Given the description of an element on the screen output the (x, y) to click on. 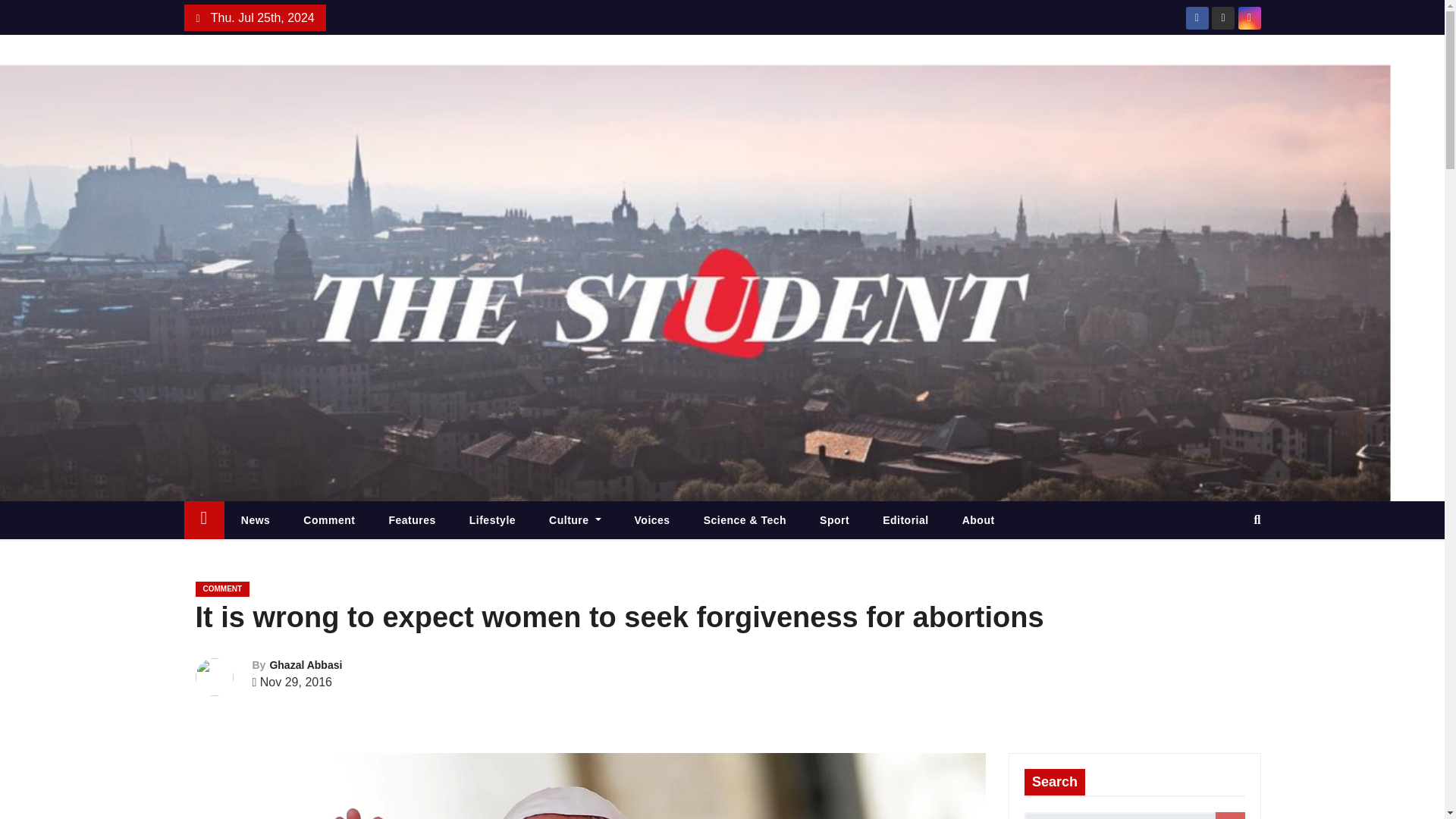
Lifestyle (492, 519)
Comment (328, 519)
News (255, 519)
Voices (652, 519)
Culture (574, 519)
Editorial (905, 519)
Culture (574, 519)
Lifestyle (492, 519)
Sport (834, 519)
Sport (834, 519)
About (977, 519)
Comment (328, 519)
News (255, 519)
Features (411, 519)
Ghazal Abbasi (305, 664)
